Given the description of an element on the screen output the (x, y) to click on. 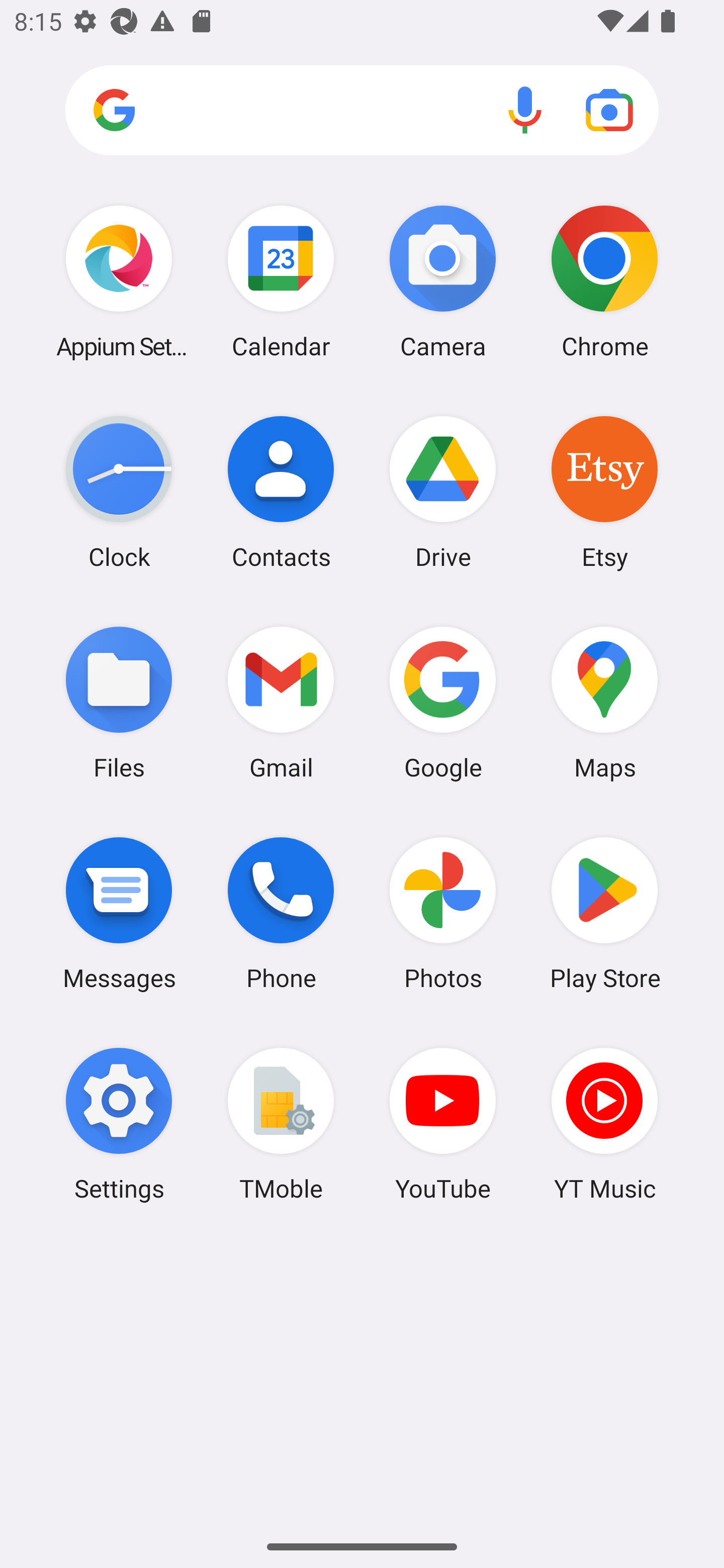
Search apps, web and more (361, 110)
Voice search (524, 109)
Google Lens (608, 109)
Appium Settings (118, 281)
Calendar (280, 281)
Camera (443, 281)
Chrome (604, 281)
Clock (118, 492)
Contacts (280, 492)
Drive (443, 492)
Etsy (604, 492)
Files (118, 702)
Gmail (280, 702)
Google (443, 702)
Maps (604, 702)
Messages (118, 913)
Phone (280, 913)
Photos (443, 913)
Play Store (604, 913)
Settings (118, 1124)
TMoble (280, 1124)
YouTube (443, 1124)
YT Music (604, 1124)
